Given the description of an element on the screen output the (x, y) to click on. 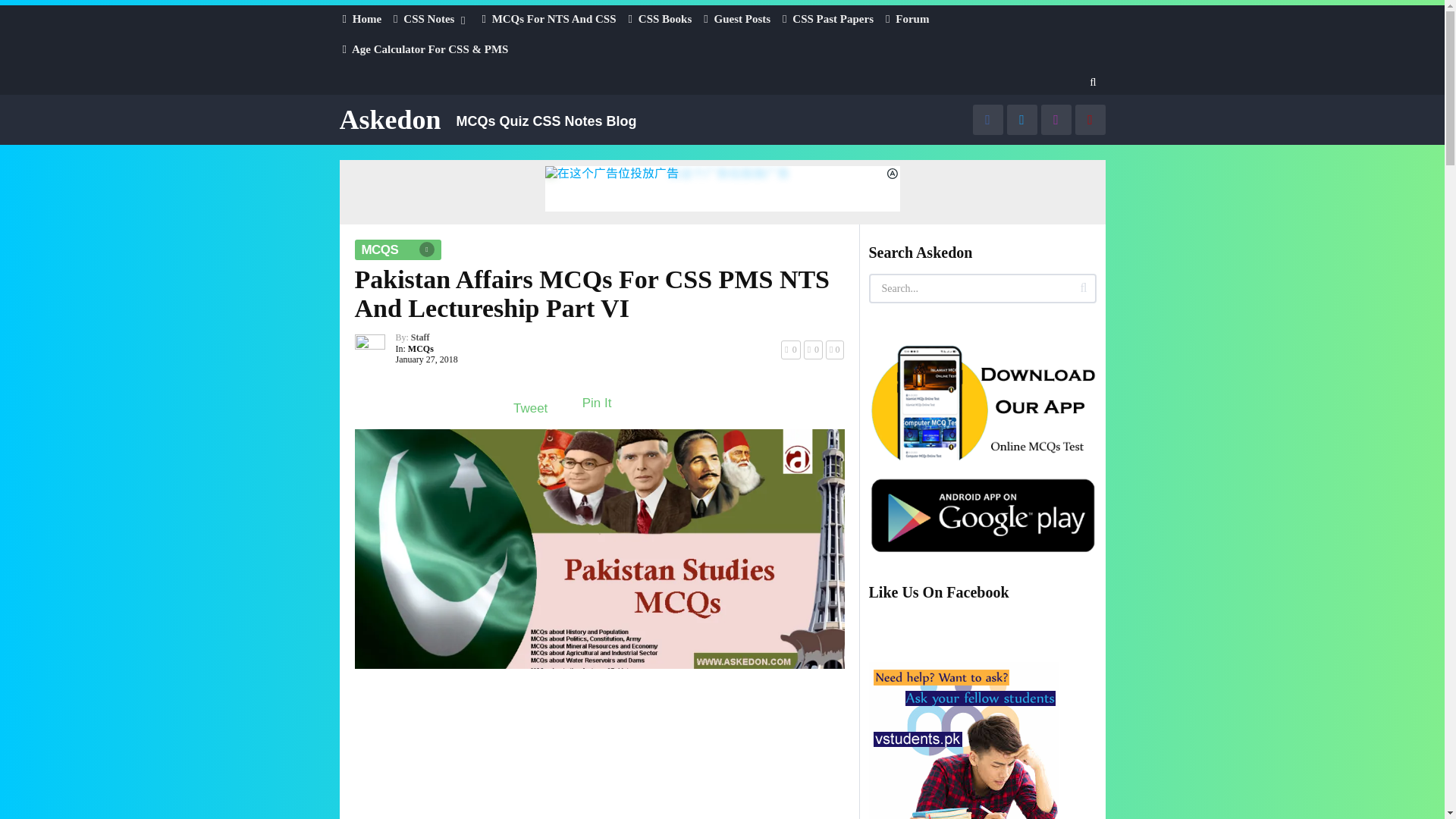
Posts by Staff (419, 337)
Advertisement (599, 751)
Askedon (390, 119)
MCQs (420, 348)
Home (361, 18)
CSS Books (660, 18)
Pin It (596, 402)
Forum (906, 18)
Staff (419, 337)
View all posts in MCQs (420, 348)
MCQS (398, 249)
CSS Past Papers (828, 18)
CSS Notes (430, 18)
MCQs For NTS And CSS (548, 18)
Tweet (530, 408)
